Given the description of an element on the screen output the (x, y) to click on. 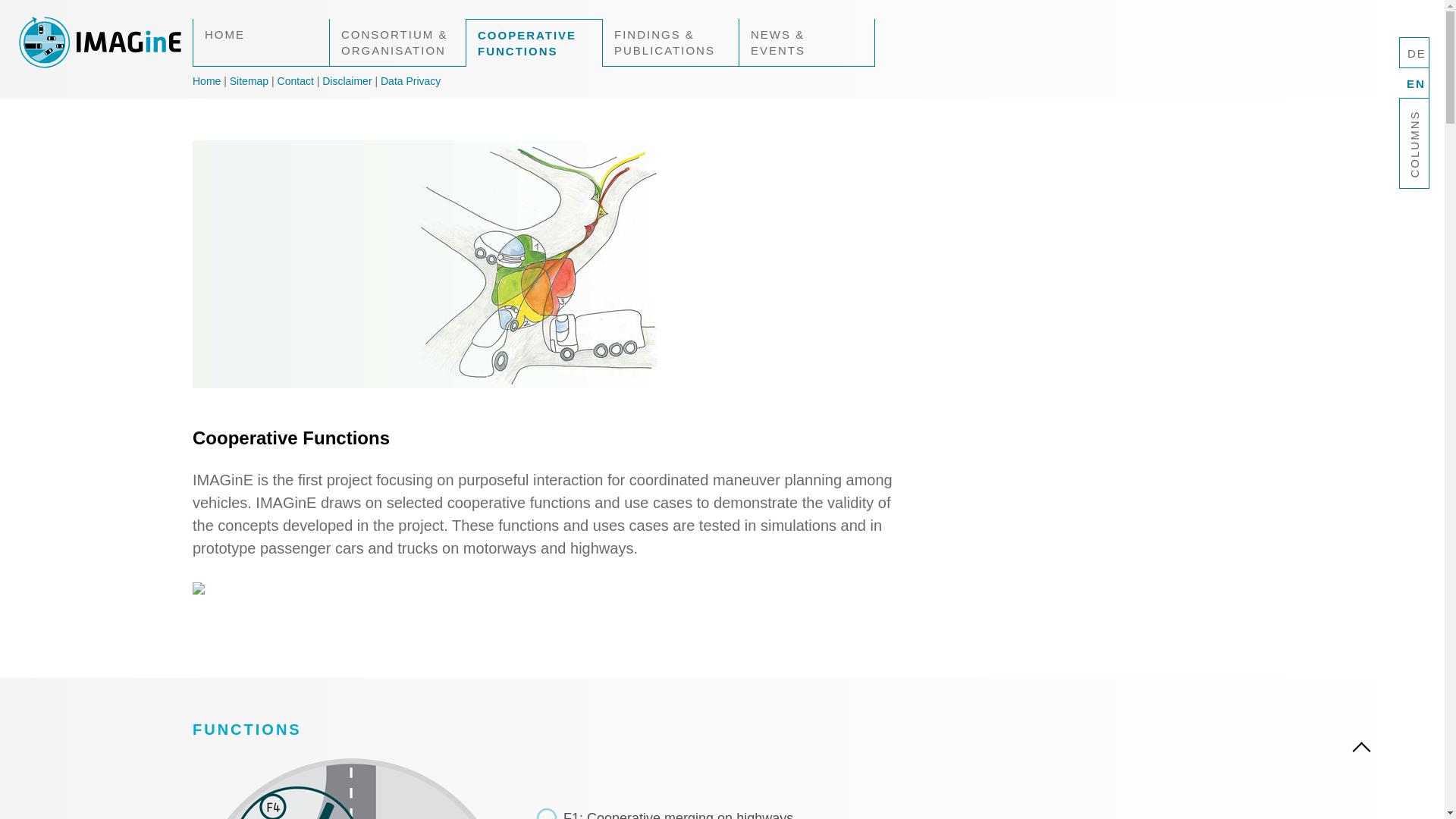
Disclaimer (346, 80)
Home (206, 80)
EN (1414, 82)
Contact (296, 80)
Data Privacy (410, 80)
DE (1414, 51)
Cooperative Functions (533, 42)
Contact (296, 80)
COOPERATIVE FUNCTIONS (533, 42)
Sitemap (248, 80)
